Given the description of an element on the screen output the (x, y) to click on. 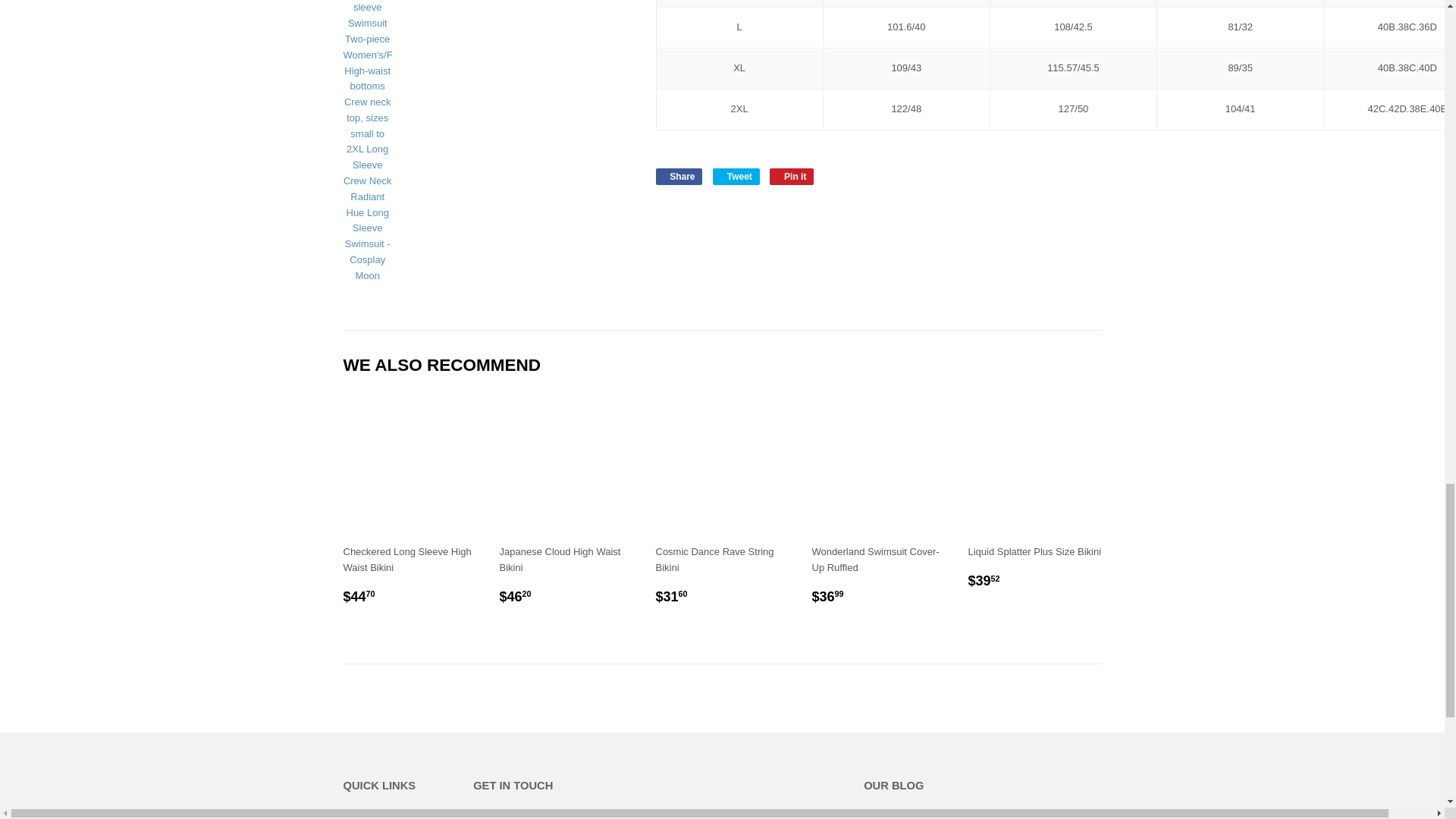
Pin on Pinterest (791, 176)
Share on Facebook (678, 176)
Tweet on Twitter (736, 176)
